Given the description of an element on the screen output the (x, y) to click on. 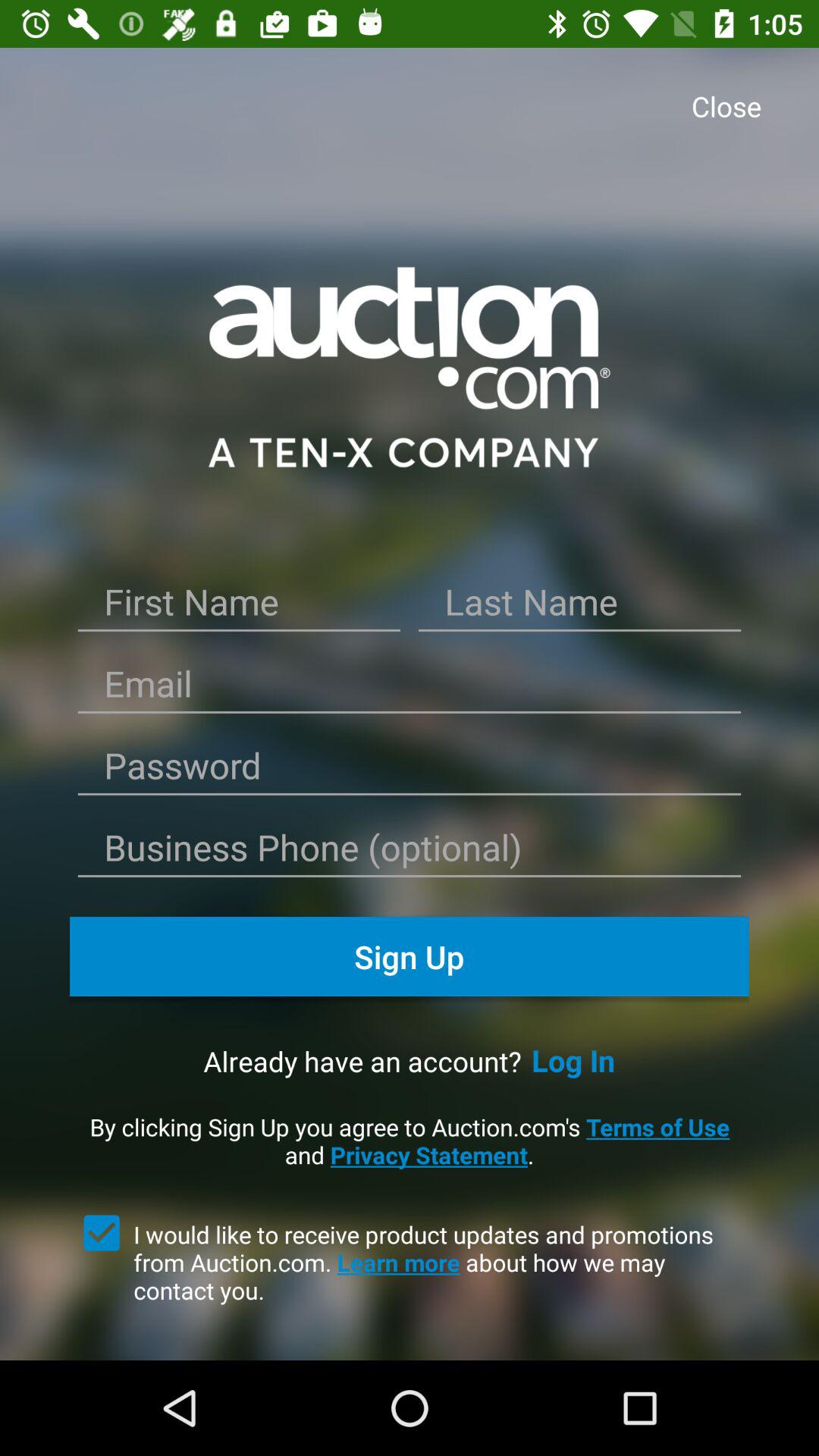
jump to the close (731, 107)
